Given the description of an element on the screen output the (x, y) to click on. 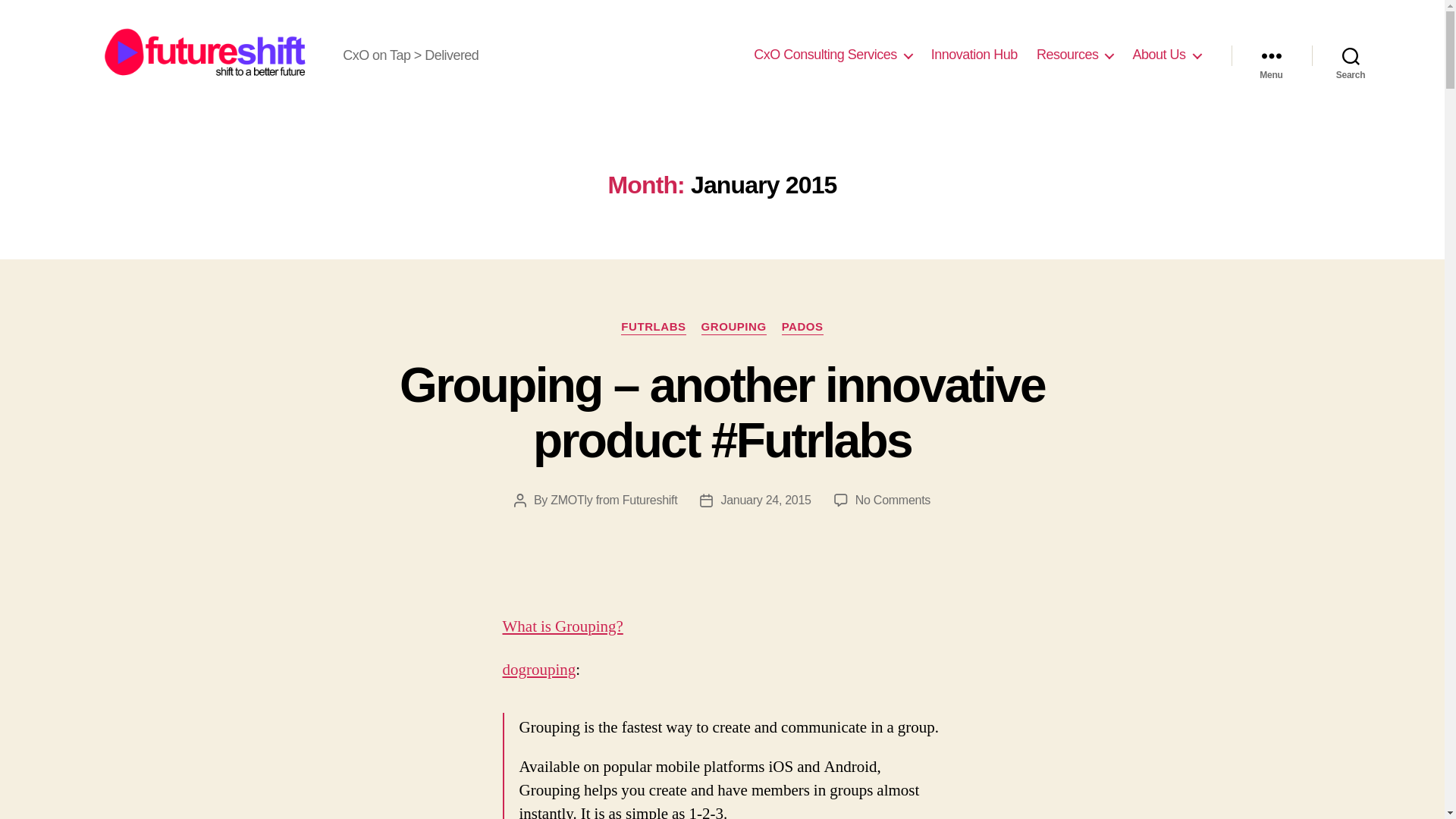
Innovation Hub (974, 54)
CxO Consulting Services (833, 54)
Menu (1271, 55)
FUTRLABS (653, 327)
Resources (1074, 54)
Search (1350, 55)
About Us (1165, 54)
